Given the description of an element on the screen output the (x, y) to click on. 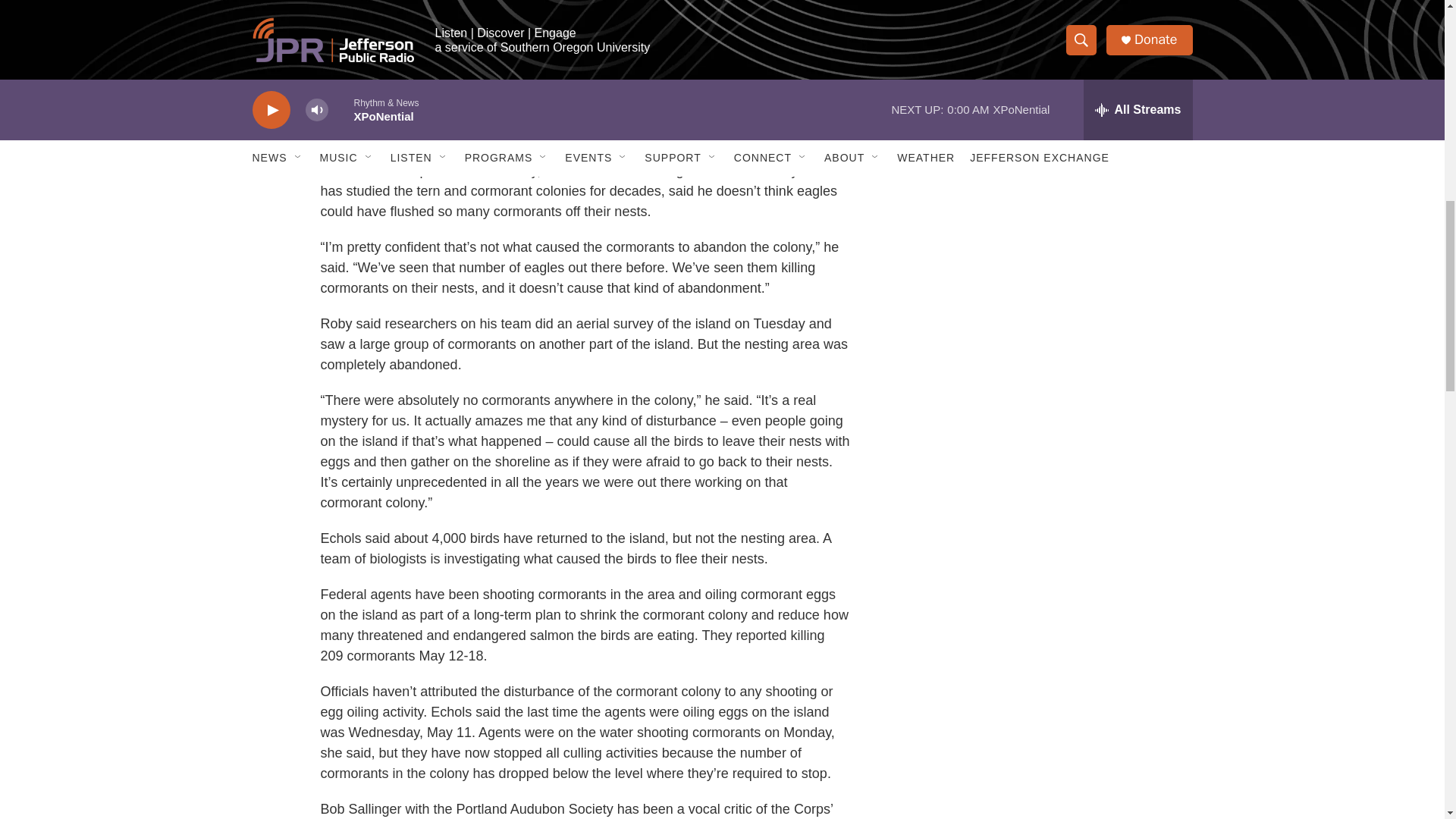
3rd party ad content (1062, 16)
